Given the description of an element on the screen output the (x, y) to click on. 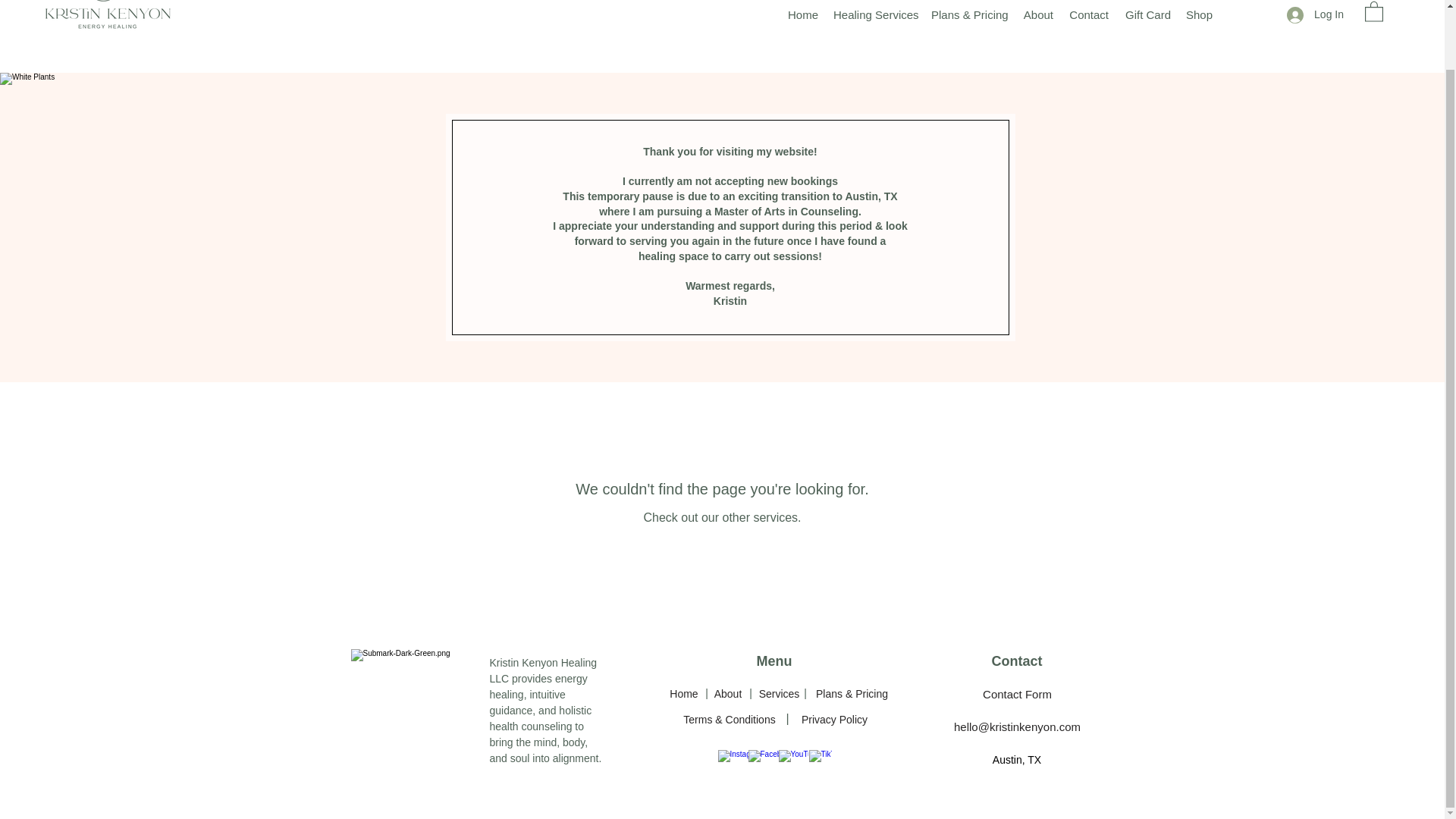
Home (683, 693)
Healing Services (874, 15)
Privacy Policy (834, 719)
Services (778, 693)
Shop (1198, 15)
Contact Form (1017, 693)
About (1037, 15)
Log In (1315, 14)
Home (801, 15)
Contact (1088, 15)
About (727, 693)
Gift Card (1146, 15)
